Given the description of an element on the screen output the (x, y) to click on. 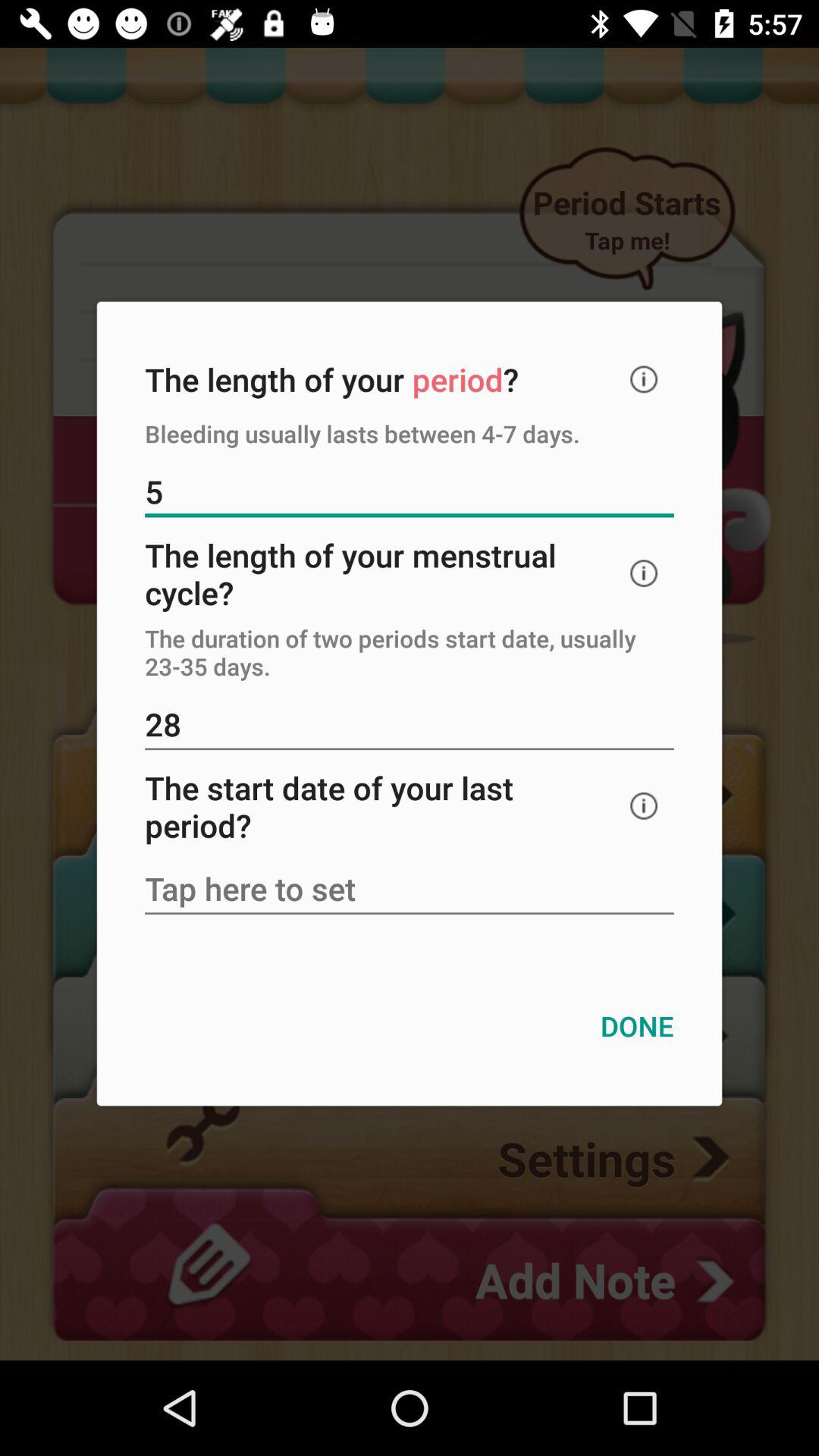
open detail (643, 379)
